Given the description of an element on the screen output the (x, y) to click on. 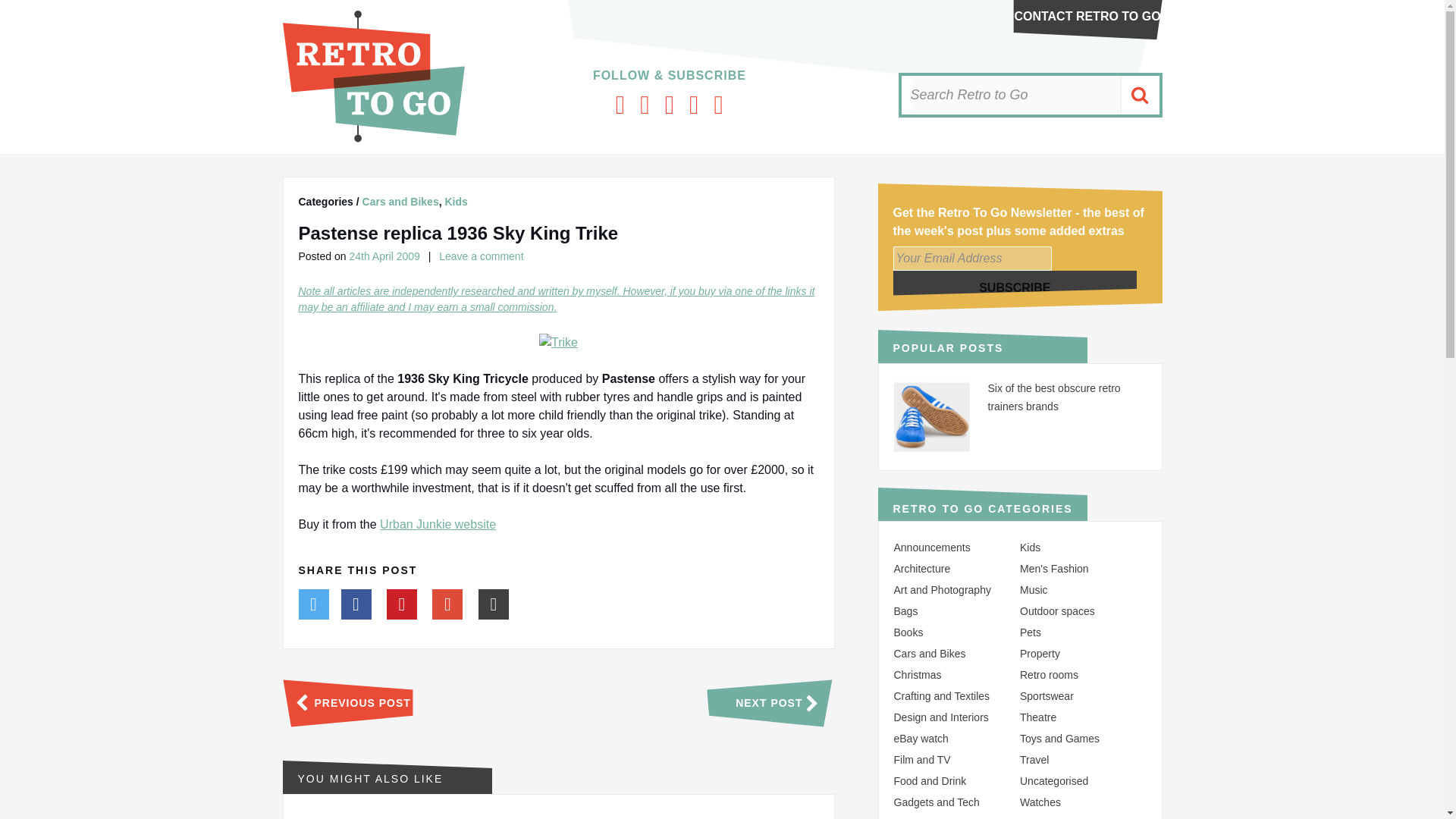
Leave a comment (480, 256)
Search Retro to Go (1015, 95)
PREVIOUS POST (346, 702)
Cars and Bikes (400, 201)
Share on Twitter (313, 605)
Subscribe (1015, 286)
24th April 2009 (384, 256)
Kids (455, 201)
NEXT POST (784, 702)
CONTACT RETRO TO GO (1086, 15)
Search (1139, 95)
Your Email Address (972, 258)
Retro to Go (373, 137)
Trike (558, 342)
